Given the description of an element on the screen output the (x, y) to click on. 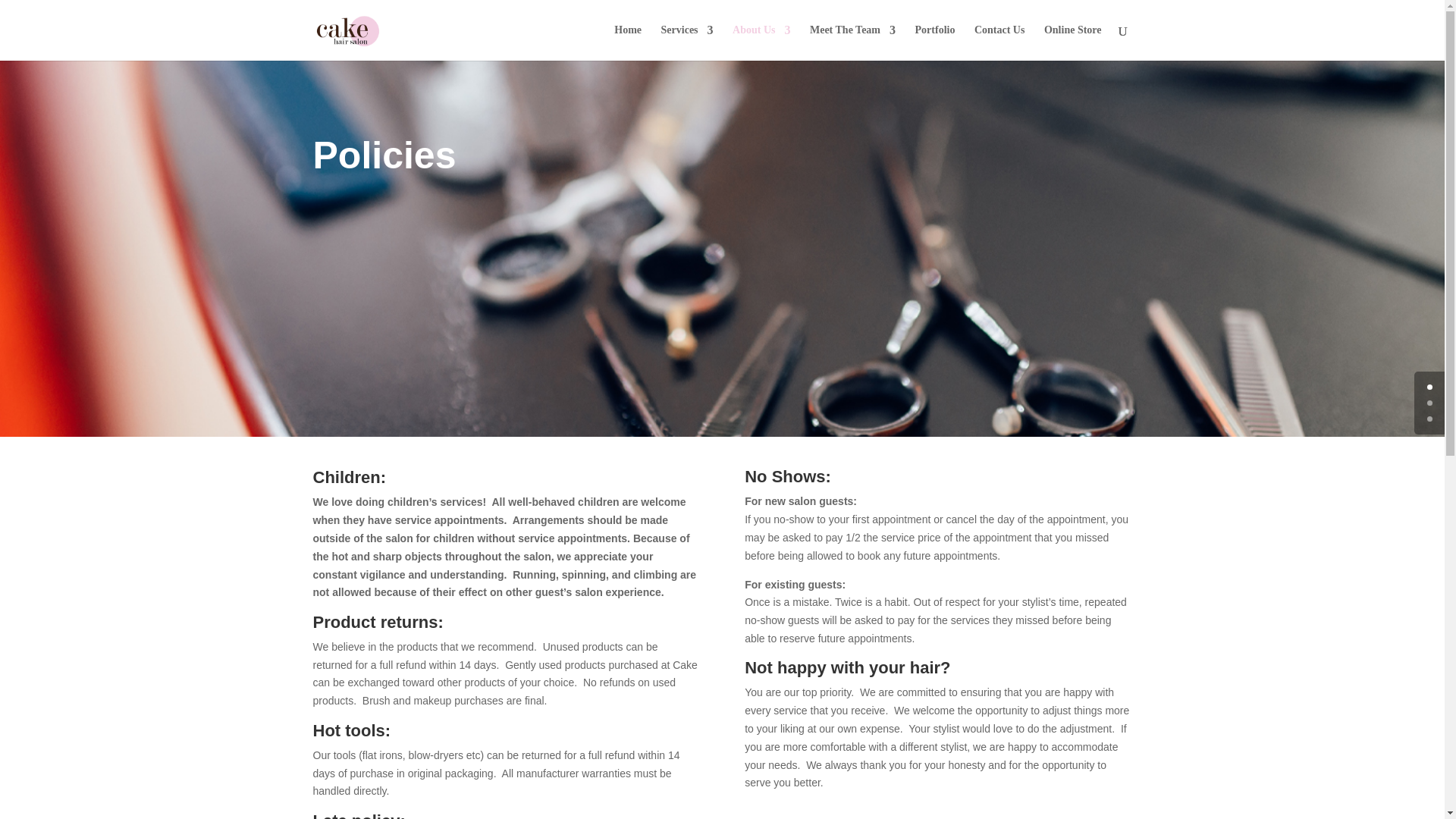
About Us (761, 42)
Online Store (1072, 42)
Contact Us (999, 42)
Services (687, 42)
Meet The Team (852, 42)
Portfolio (935, 42)
